Given the description of an element on the screen output the (x, y) to click on. 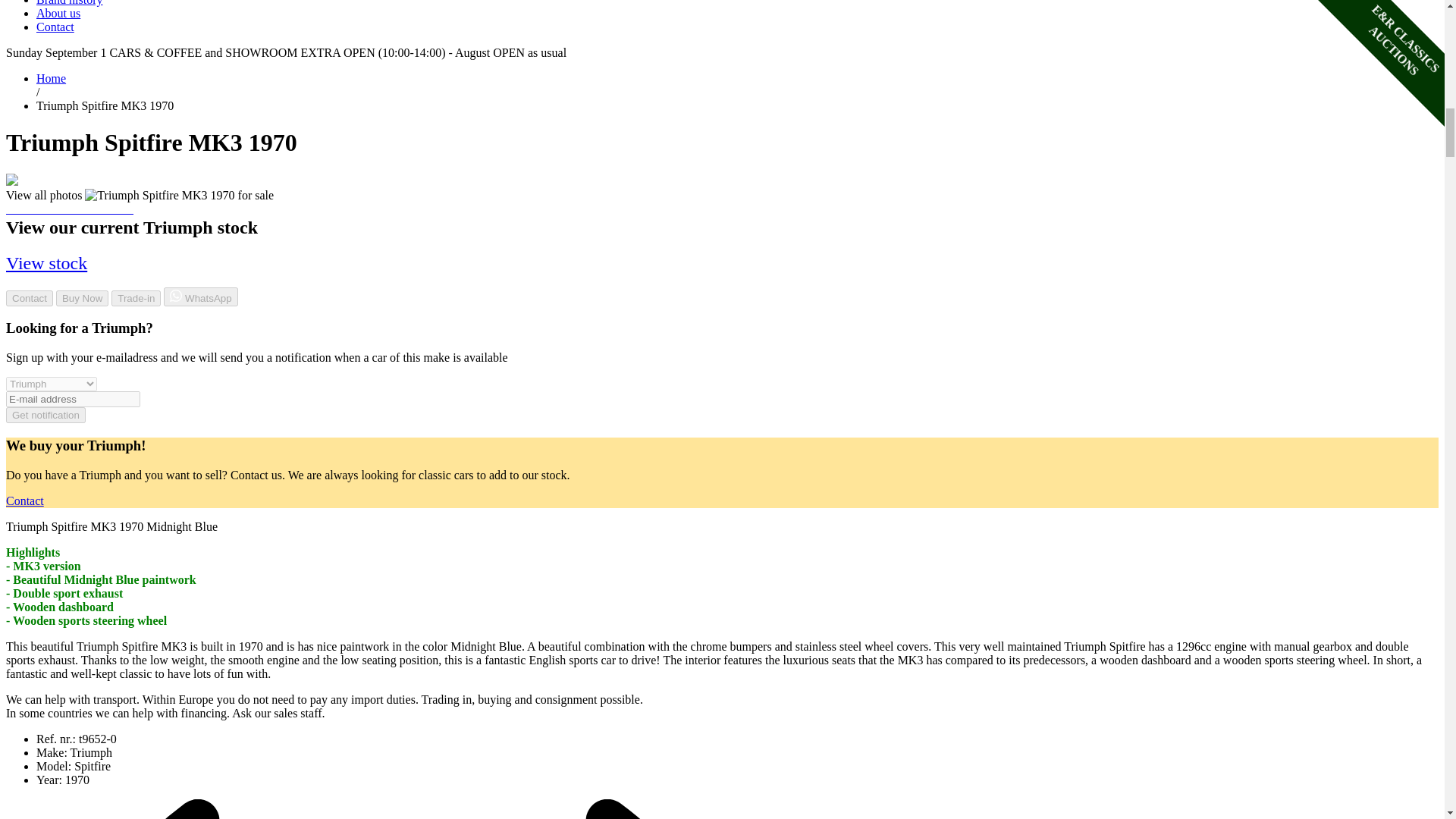
Brand history (69, 2)
Triumph Spitfire MK3 1970 (178, 195)
Contact (55, 26)
Home (50, 78)
About us (58, 12)
Go to Home Page (50, 78)
